Given the description of an element on the screen output the (x, y) to click on. 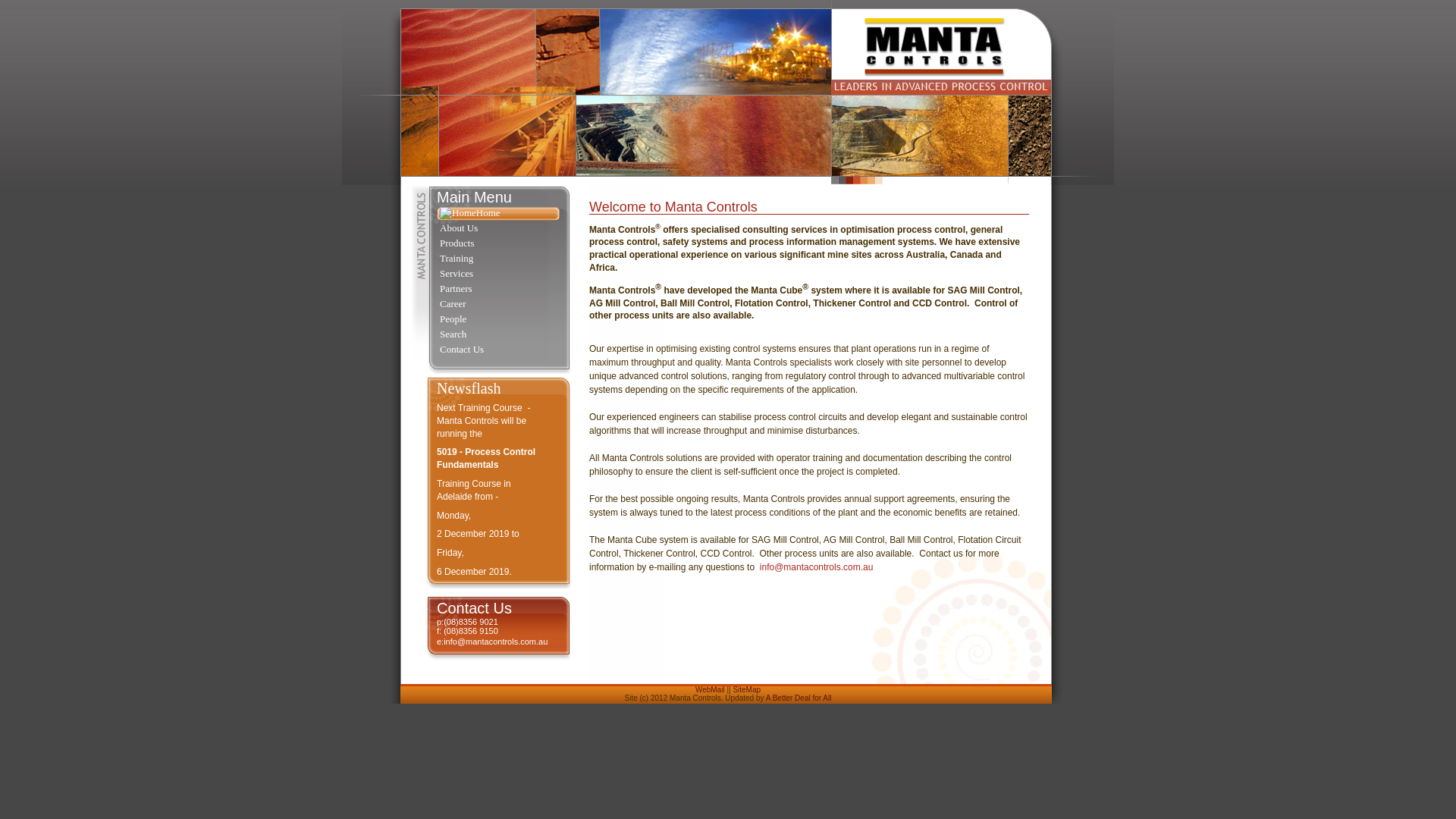
Search Element type: text (498, 335)
About Us Element type: text (498, 228)
Career Element type: text (498, 304)
Contact Us Element type: text (498, 350)
WebMail Element type: text (709, 689)
SiteMap Element type: text (746, 689)
Home Element type: text (498, 213)
Products Element type: text (498, 244)
A Better Deal for All Element type: text (798, 697)
Services Element type: text (498, 274)
info@mantacontrols.com.au Element type: text (816, 566)
People Element type: text (498, 319)
Training Element type: text (498, 259)
Partners Element type: text (498, 289)
